Given the description of an element on the screen output the (x, y) to click on. 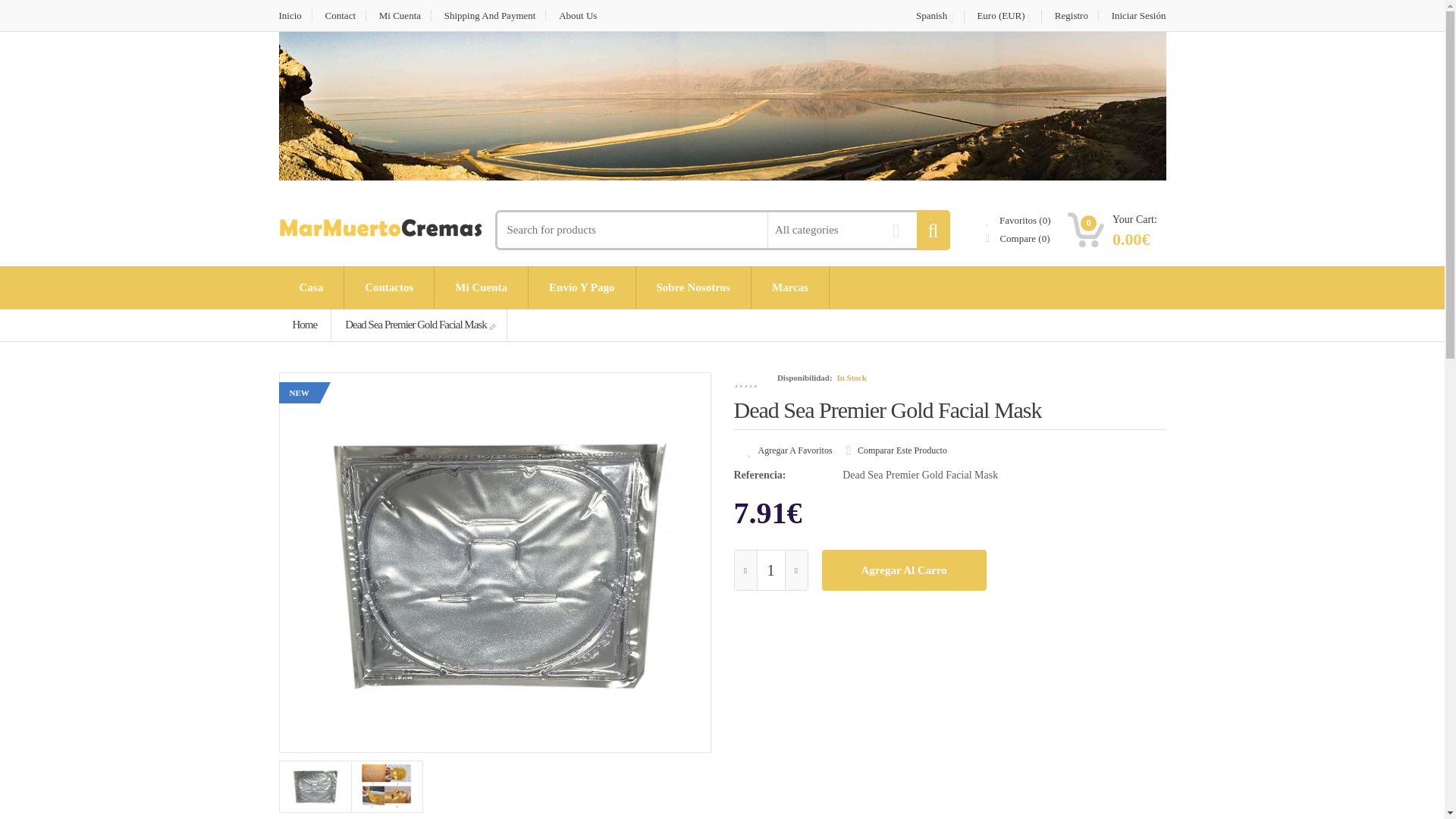
Contact (340, 15)
Inicio (296, 15)
Spanish (934, 16)
Contactos (388, 287)
Inicio (722, 105)
Dead Sea Premier Gold Facial Mask (418, 324)
Dead Sea Premier Gold Facial Mask (314, 786)
Marcas (789, 287)
Dead Sea Premier Gold Facial Mask (386, 786)
1 (770, 570)
